Given the description of an element on the screen output the (x, y) to click on. 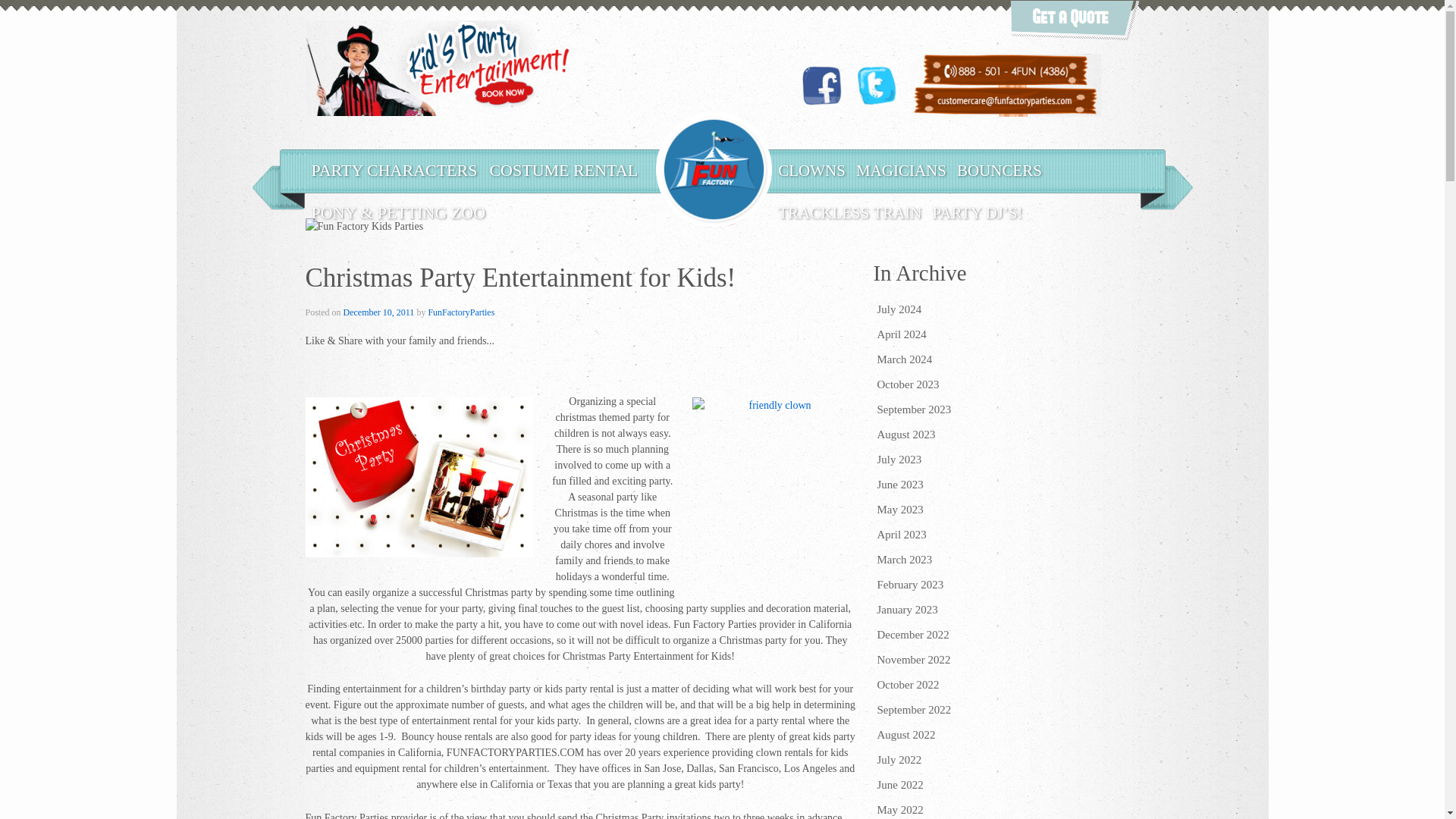
BOUNCERS (999, 170)
PARTY CHARACTERS (393, 170)
CLOWNS (811, 170)
December 10, 2011 (378, 312)
Christmas Party Entertainment for Kids! (378, 312)
COSTUME RENTAL (563, 170)
FunFactoryParties (461, 312)
TRACKLESS TRAIN (849, 212)
View all posts by FunFactoryParties (461, 312)
